Given the description of an element on the screen output the (x, y) to click on. 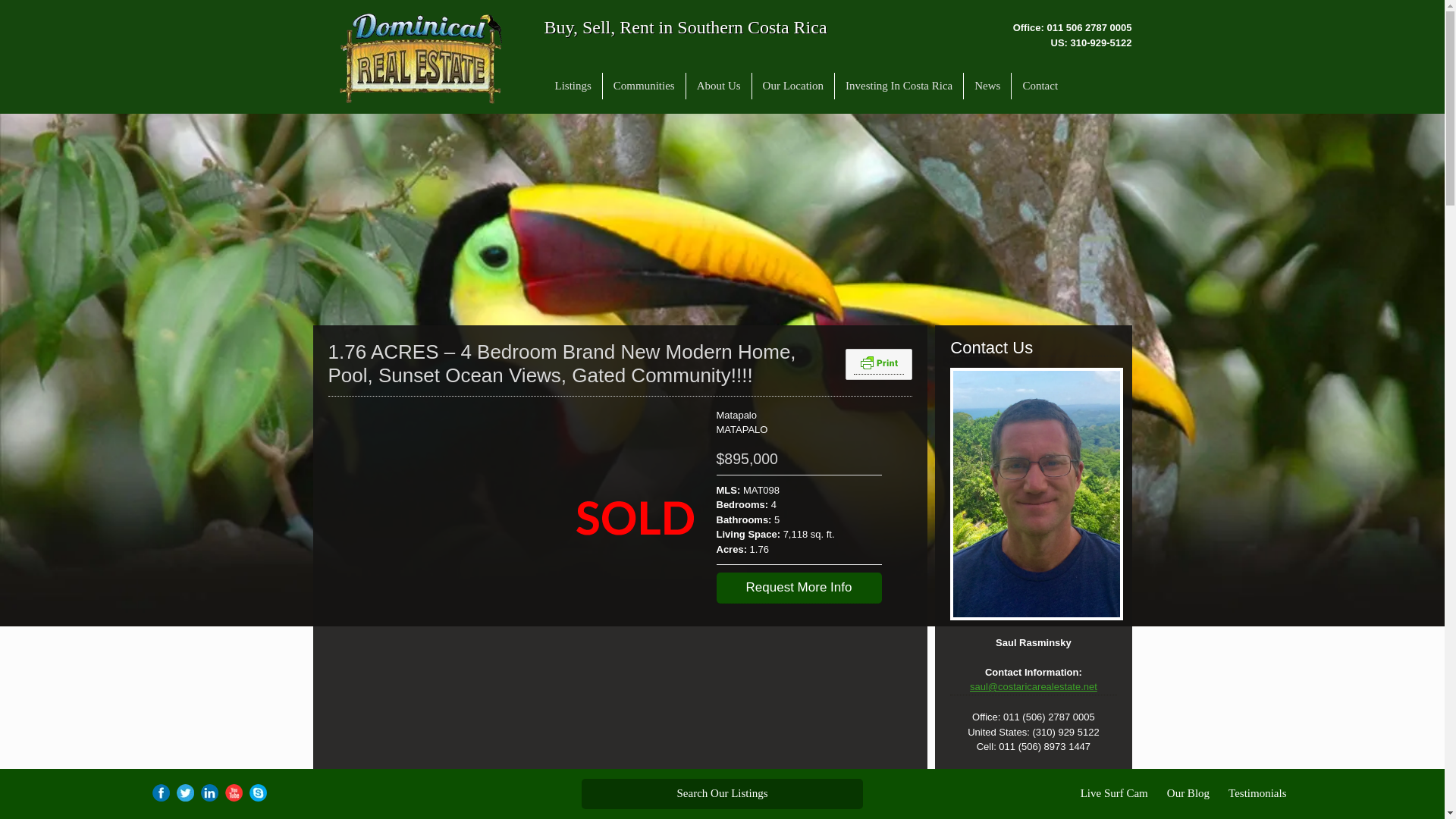
Dominical Real Estate (420, 57)
About Us (718, 85)
Contact (1039, 85)
Communities (643, 85)
Investing In Costa Rica (898, 85)
News (986, 85)
Listings (572, 85)
Our Location (793, 85)
